Given the description of an element on the screen output the (x, y) to click on. 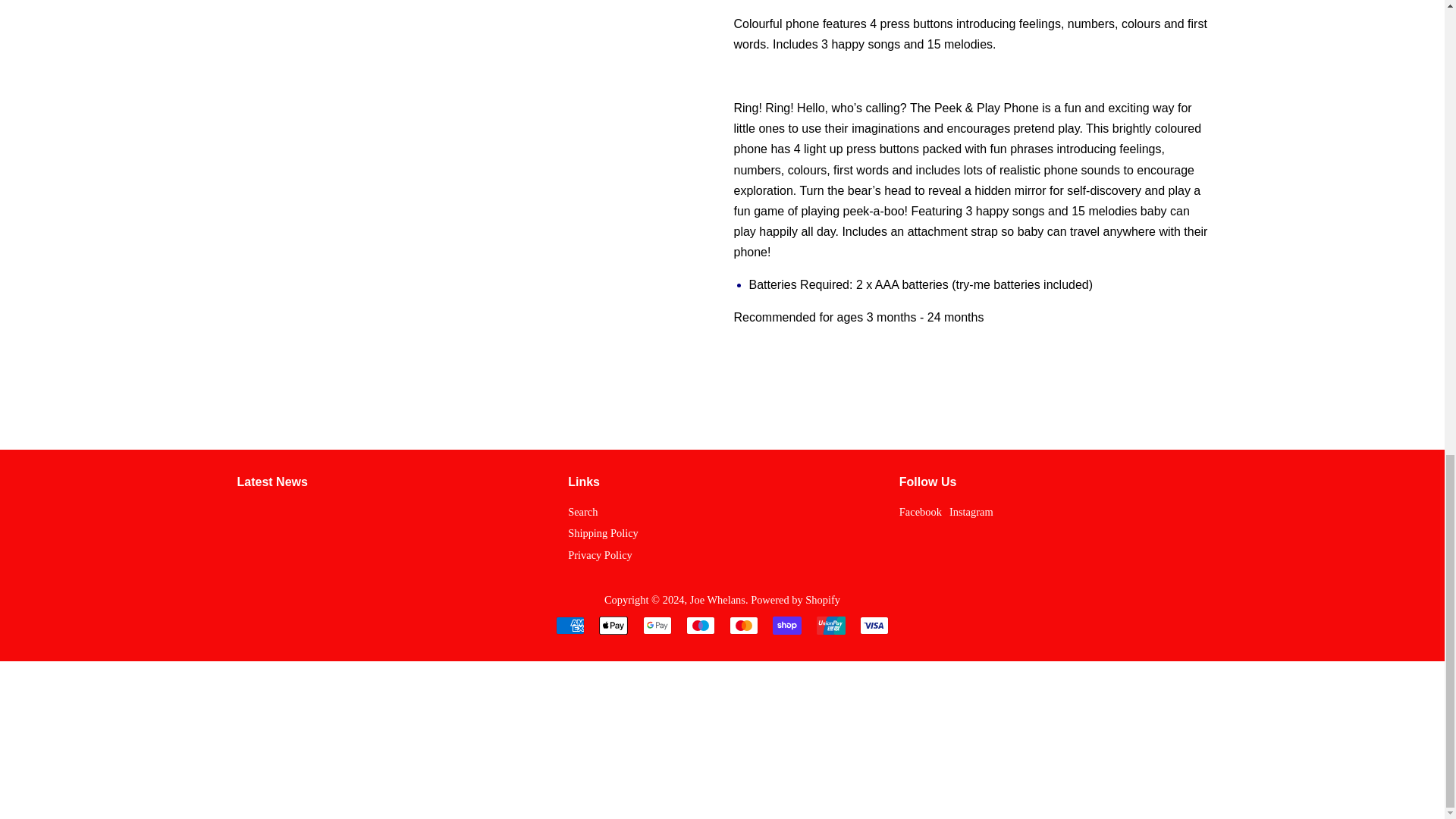
Shop Pay (787, 625)
Maestro (699, 625)
Google Pay (657, 625)
American Express (570, 625)
Joe Whelans on Instagram (970, 511)
Union Pay (830, 625)
Joe Whelans on Facebook (920, 511)
Apple Pay (612, 625)
Mastercard (743, 625)
Visa (874, 625)
